Given the description of an element on the screen output the (x, y) to click on. 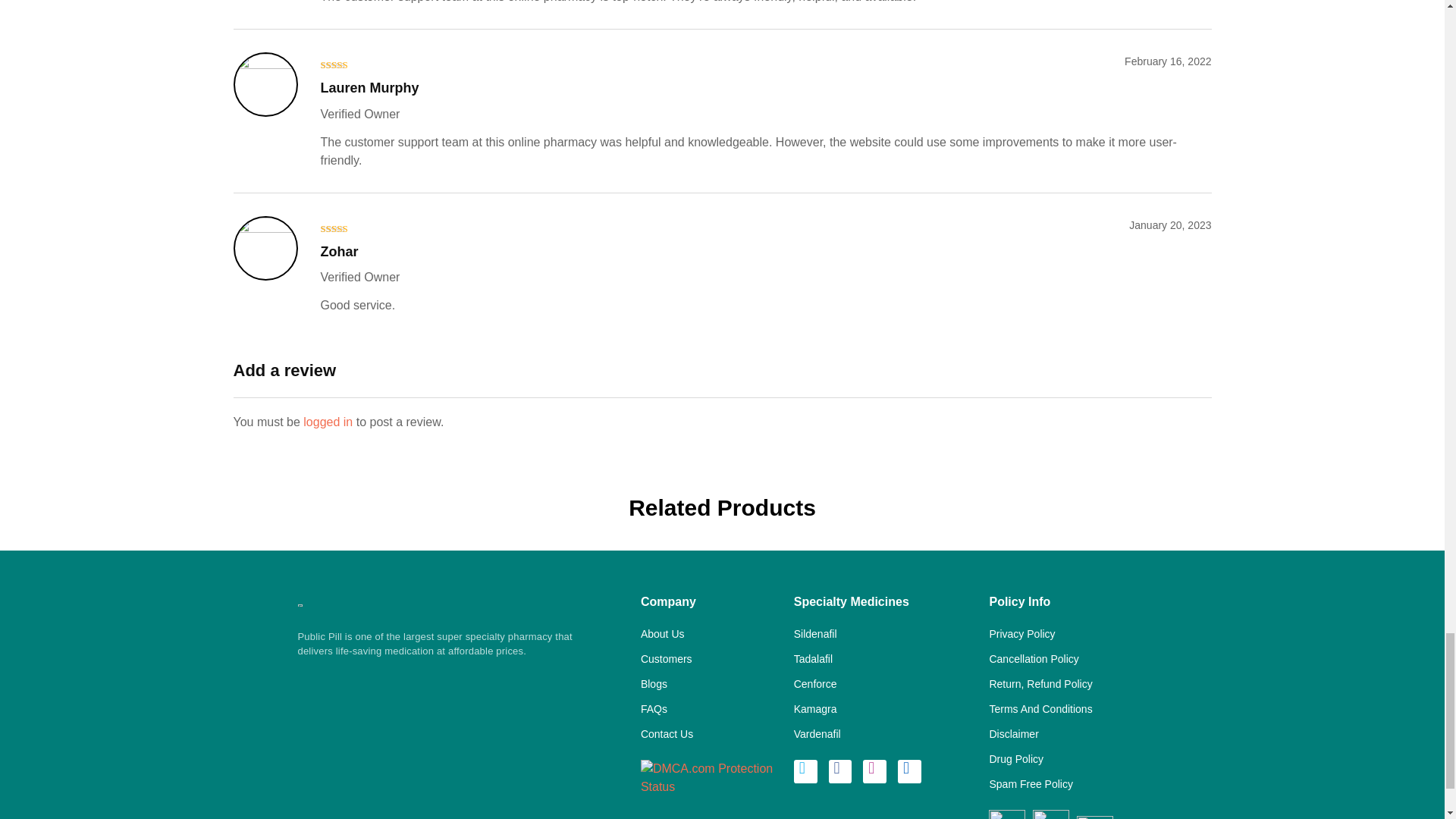
DMCA.com Protection Status (709, 776)
